Given the description of an element on the screen output the (x, y) to click on. 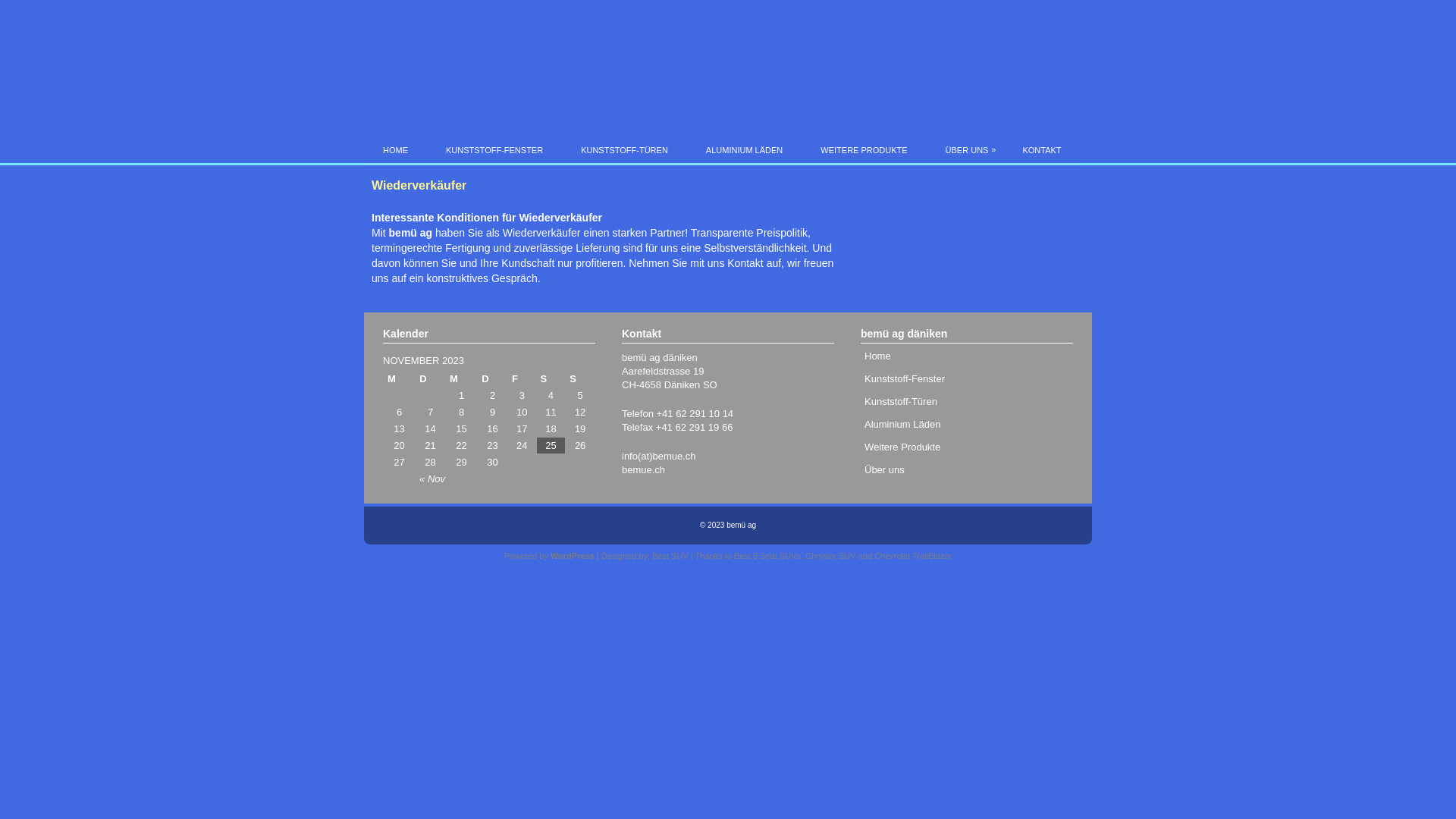
Chevrolet TrailBlazer Element type: text (912, 555)
HOME Element type: text (395, 151)
Home Element type: text (877, 355)
Best SUV Element type: text (670, 555)
Chrysler SUV Element type: text (830, 555)
WEITERE PRODUKTE Element type: text (863, 151)
KONTAKT Element type: text (1041, 151)
Kunststoff-Fenster Element type: text (904, 378)
Weitere Produkte Element type: text (902, 446)
WordPress Element type: text (572, 555)
KUNSTSTOFF-FENSTER Element type: text (493, 151)
Best 5 Seat SUVs Element type: text (767, 555)
